Given the description of an element on the screen output the (x, y) to click on. 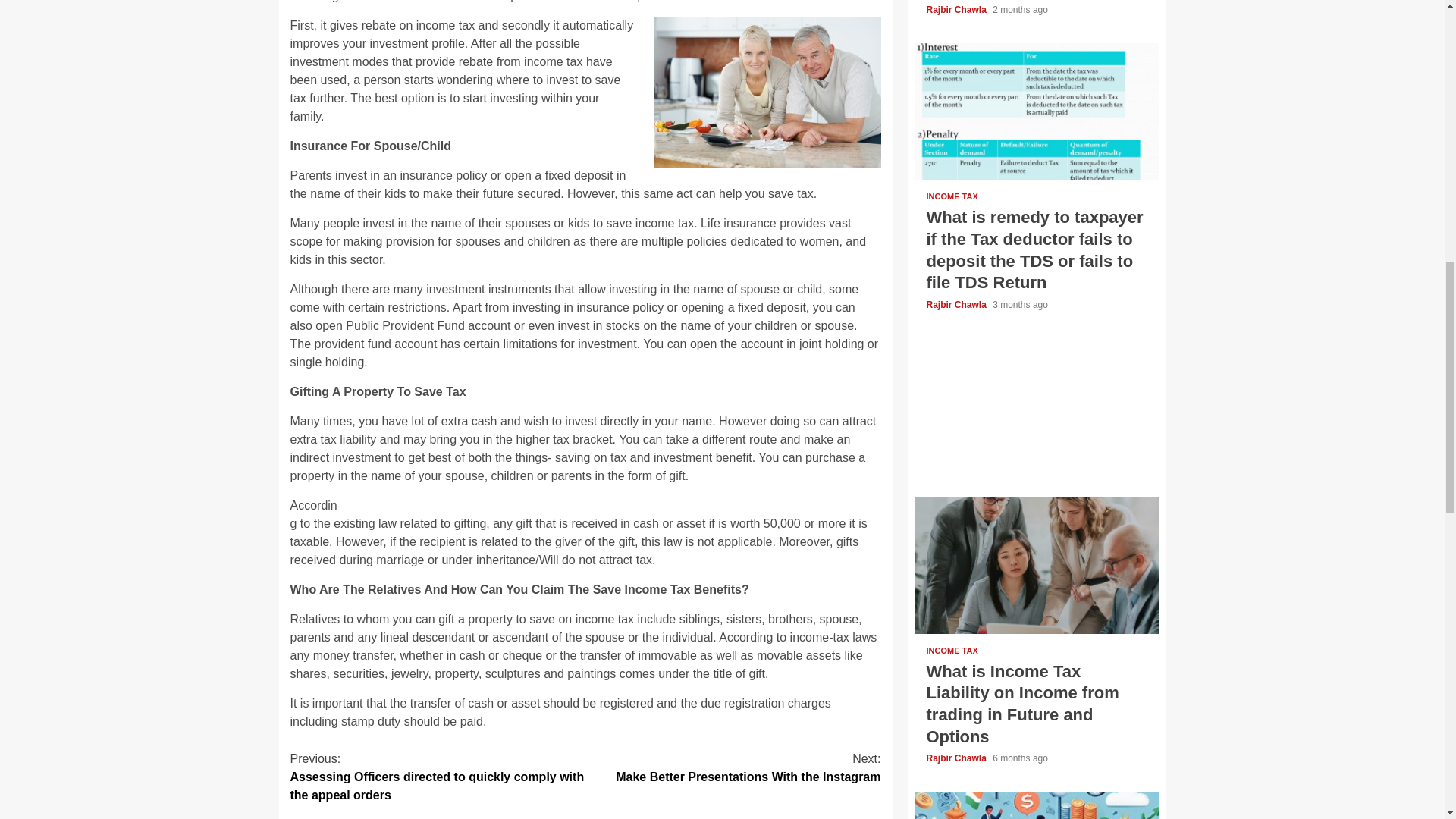
Advertisement (732, 768)
